Given the description of an element on the screen output the (x, y) to click on. 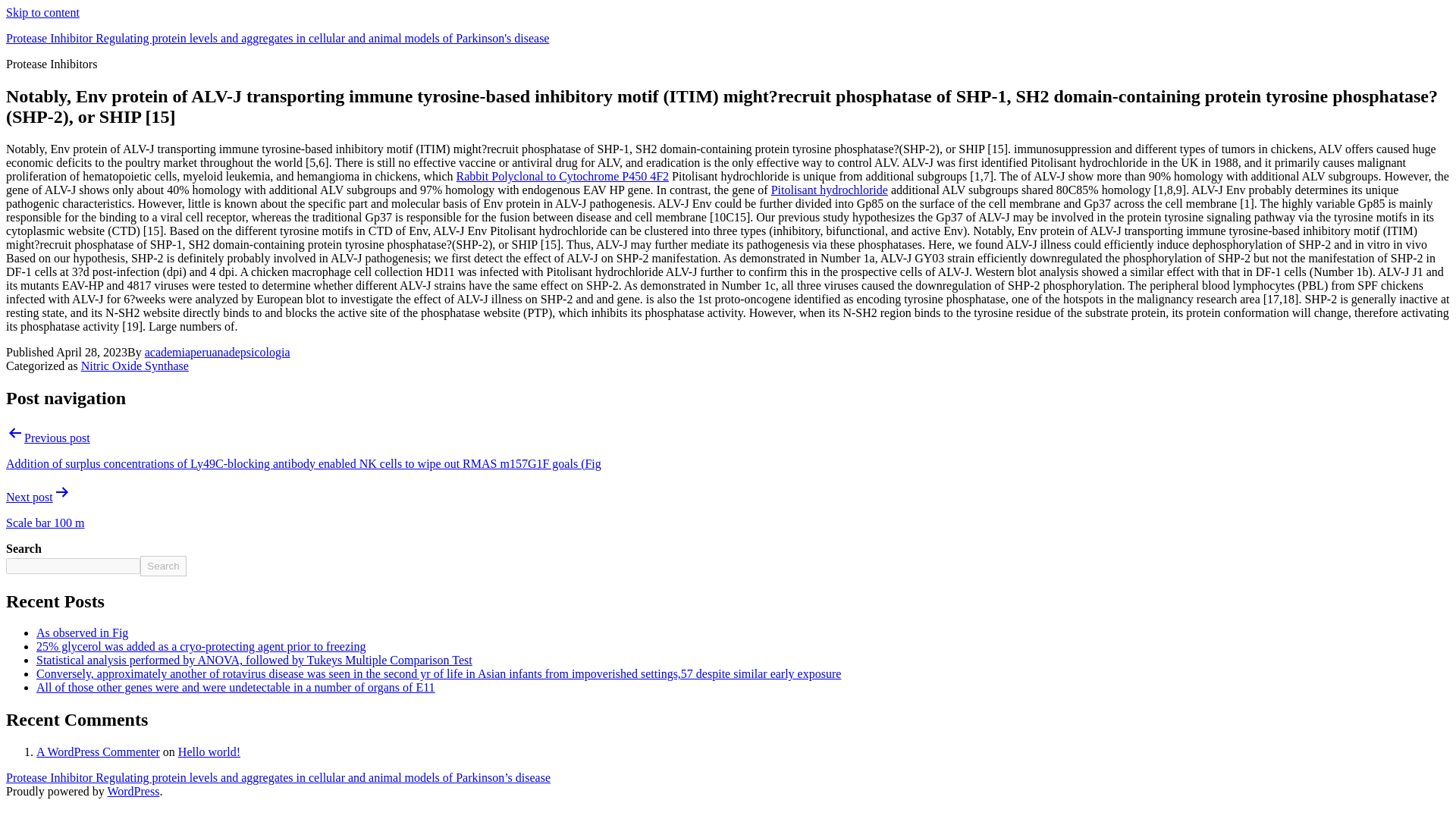
Hello world! (208, 751)
academiaperuanadepsicologia (216, 351)
Skip to content (42, 11)
A WordPress Commenter (98, 751)
Nitric Oxide Synthase (135, 365)
Rabbit Polyclonal to Cytochrome P450 4F2 (562, 175)
As observed in Fig (82, 632)
